Given the description of an element on the screen output the (x, y) to click on. 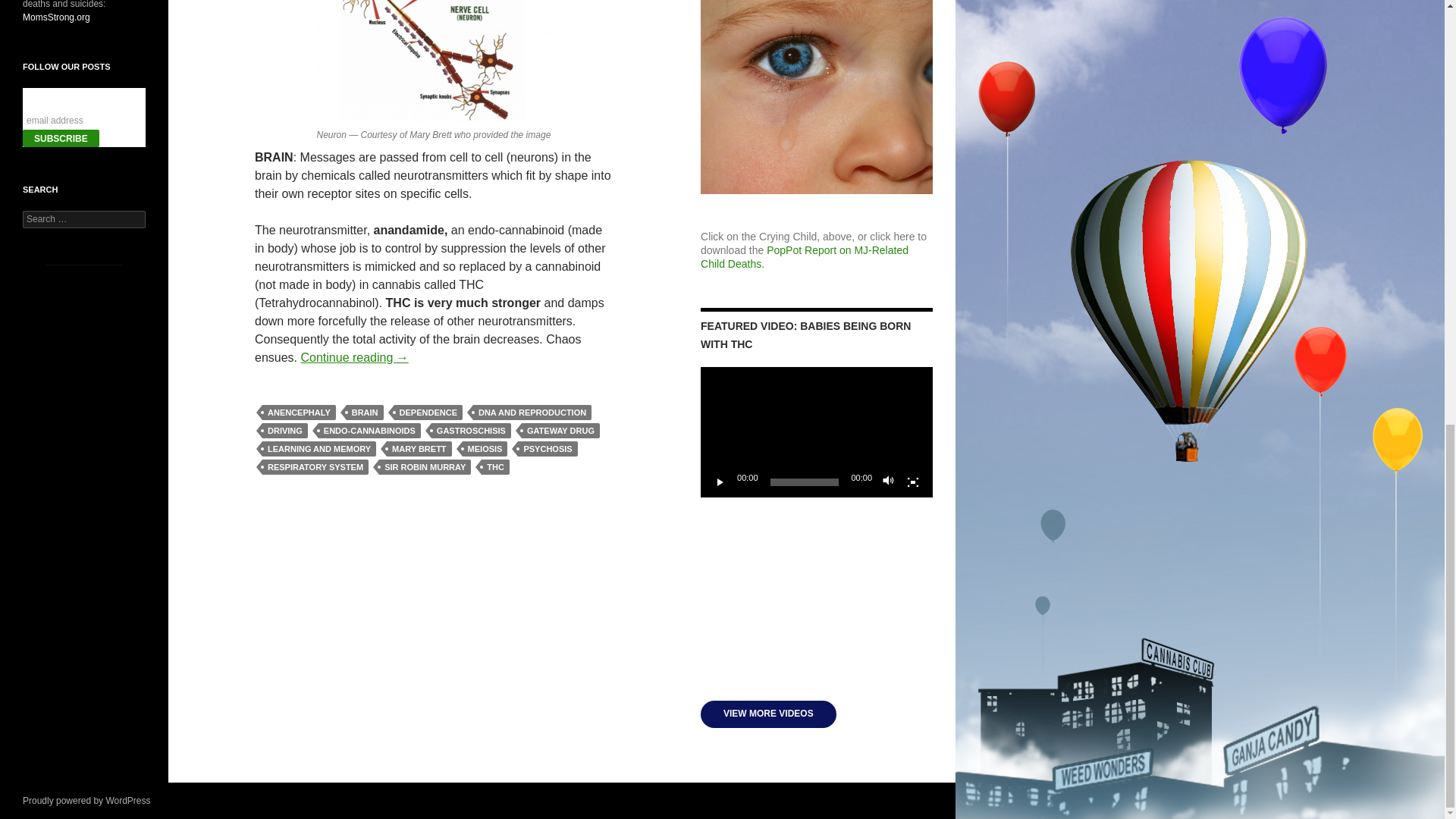
Play (720, 482)
GASTROSCHISIS (470, 430)
MARY BRETT (419, 448)
SIR ROBIN MURRAY (424, 467)
DNA AND REPRODUCTION (532, 412)
GATEWAY DRUG (560, 430)
MEIOSIS (485, 448)
PSYCHOSIS (547, 448)
Mute (888, 482)
Fullscreen (912, 482)
RESPIRATORY SYSTEM (315, 467)
Subscribe (61, 138)
ENDO-CANNABINOIDS (369, 430)
ANENCEPHALY (299, 412)
BRAIN (365, 412)
